Given the description of an element on the screen output the (x, y) to click on. 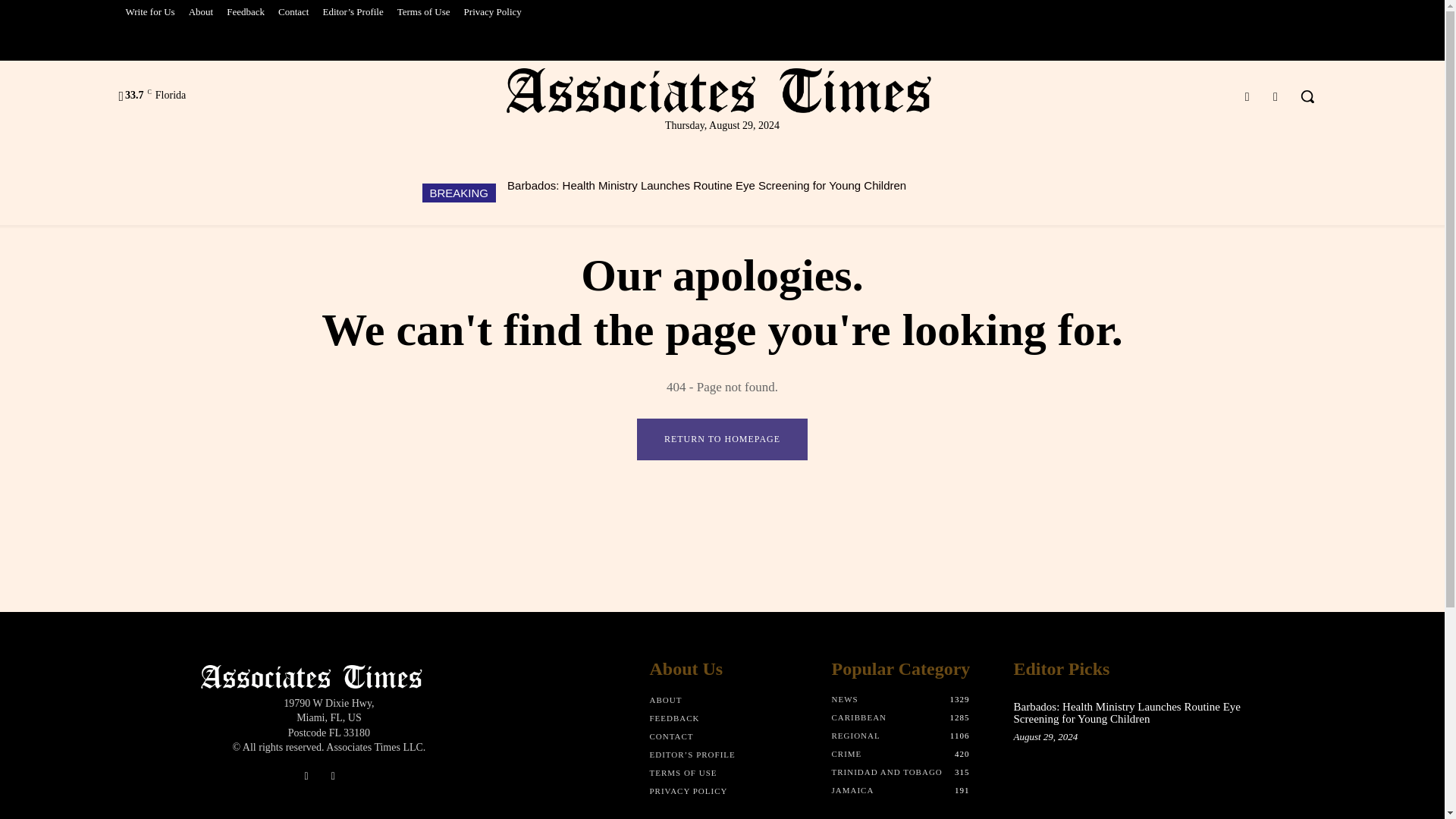
Facebook (1246, 96)
Twitter (1275, 96)
